Given the description of an element on the screen output the (x, y) to click on. 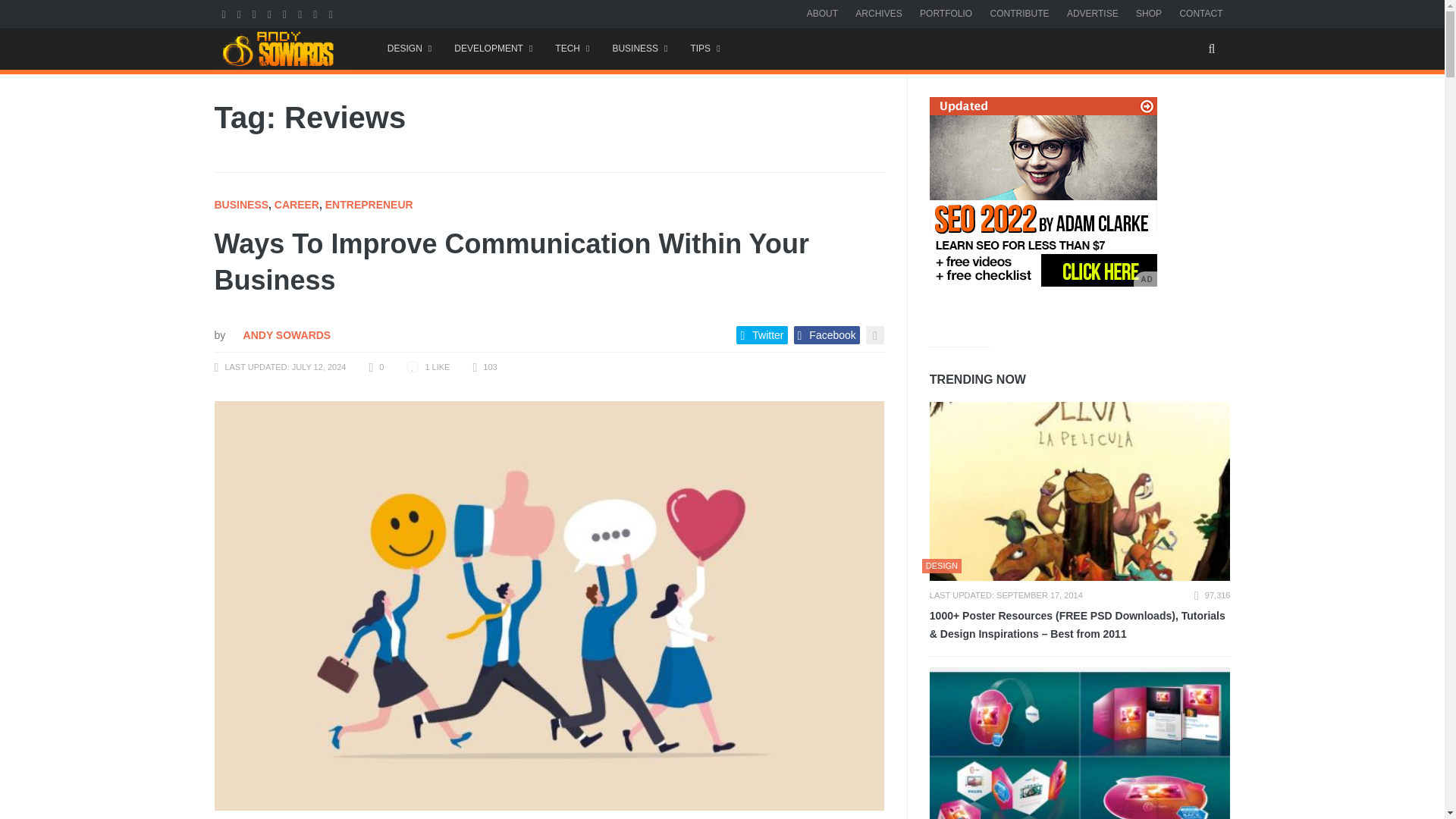
ARCHIVES (878, 13)
CONTACT (1201, 13)
DEVELOPMENT (493, 48)
BUSINESS (638, 48)
DESIGN (408, 48)
ABOUT (822, 13)
ADVERTISE (1092, 13)
PORTFOLIO (946, 13)
SHOP (1148, 13)
Design (408, 48)
CONTRIBUTE (1019, 13)
